Given the description of an element on the screen output the (x, y) to click on. 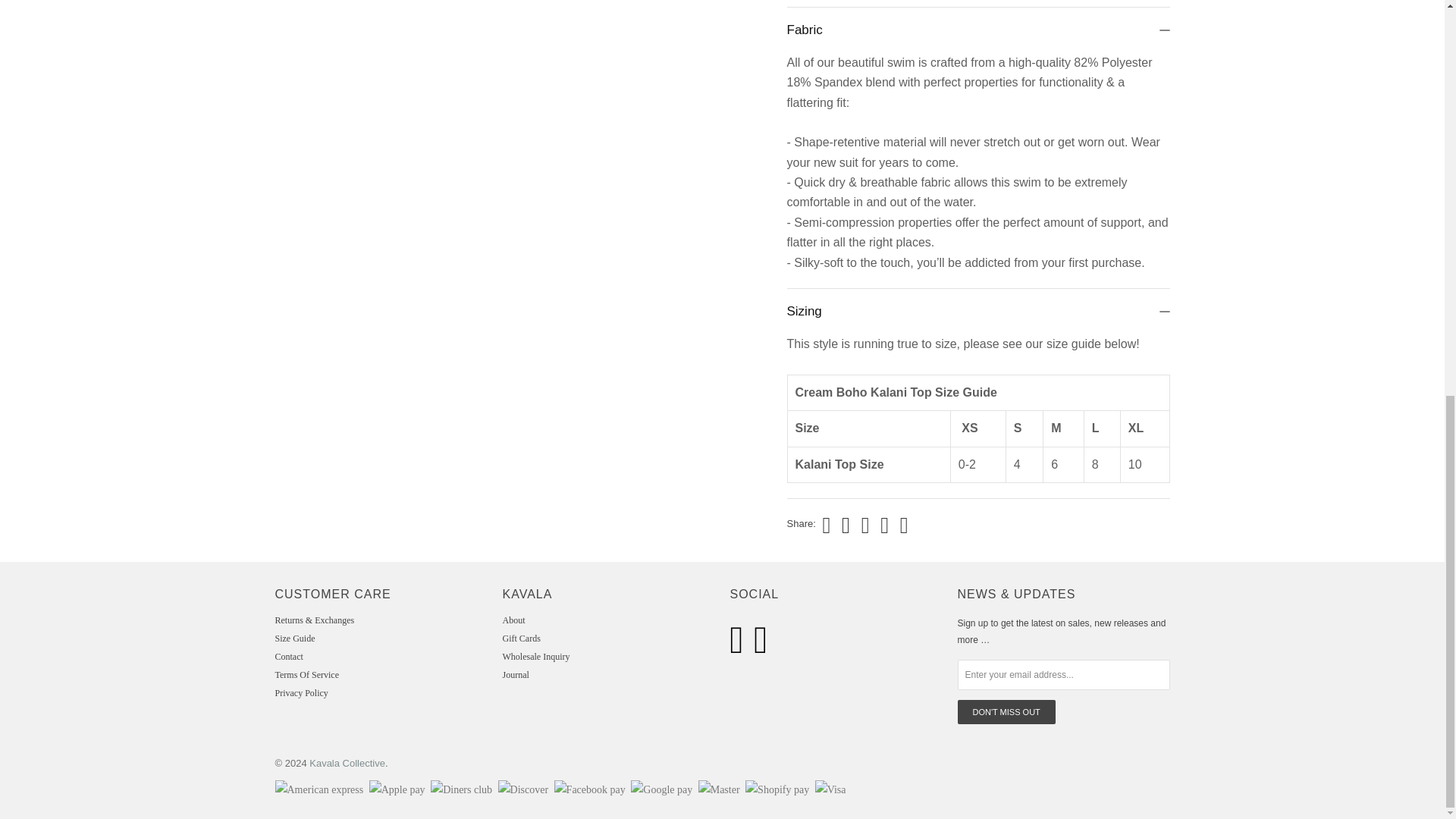
DON'T MISS OUT (1005, 711)
Contact (373, 655)
Size Guide (373, 637)
Terms of Service (373, 674)
